Given the description of an element on the screen output the (x, y) to click on. 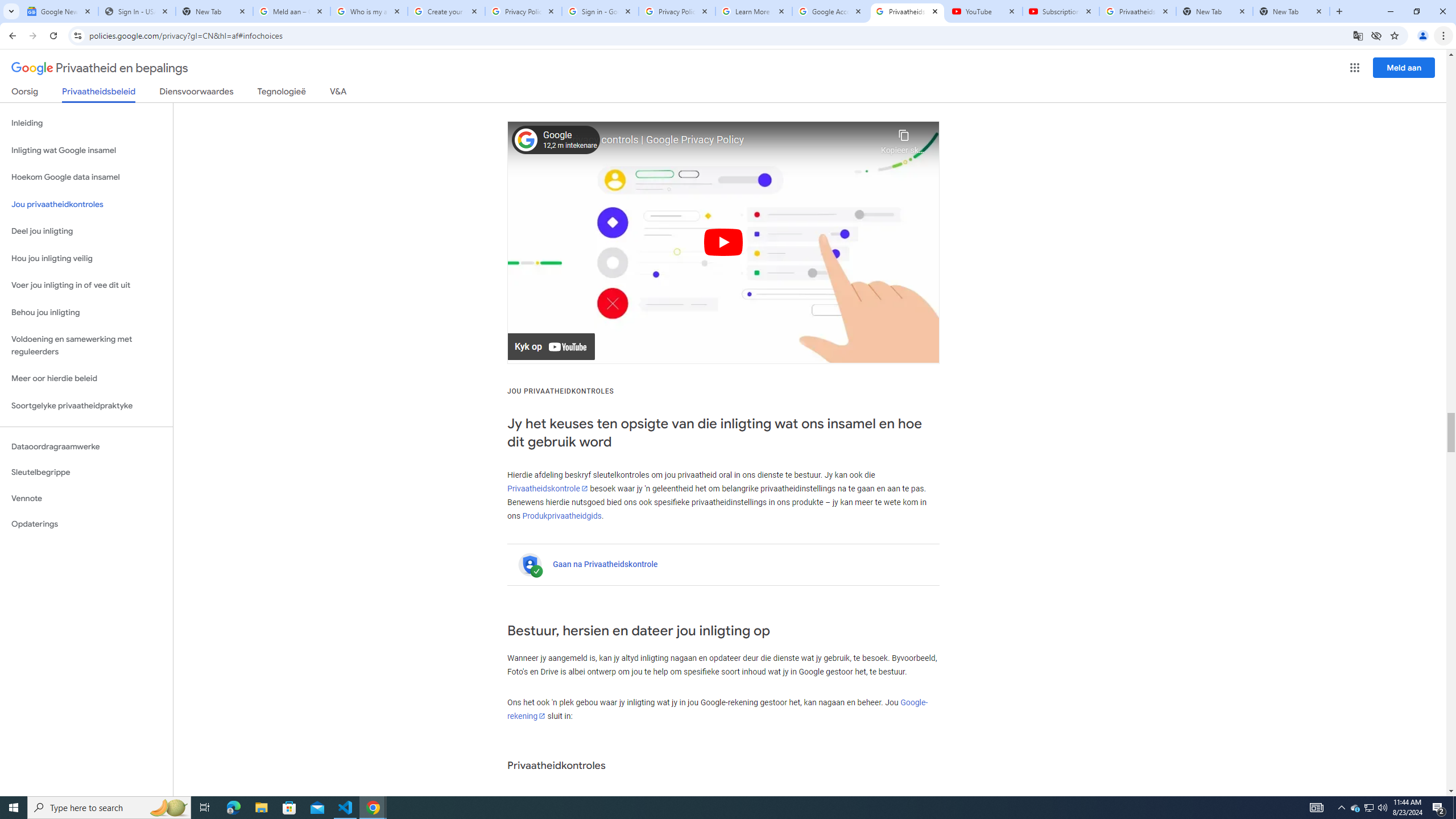
Diensvoorwaardes (196, 93)
Sleutelbegrippe (86, 472)
Behou jou inligting (86, 312)
Subscriptions - YouTube (1061, 11)
Deel jou inligting (86, 230)
Meld aan (1404, 67)
V&A (337, 93)
Meer oor hierdie beleid (86, 379)
Your privacy controls | Google Privacy Policy (709, 140)
Google News (59, 11)
